Given the description of an element on the screen output the (x, y) to click on. 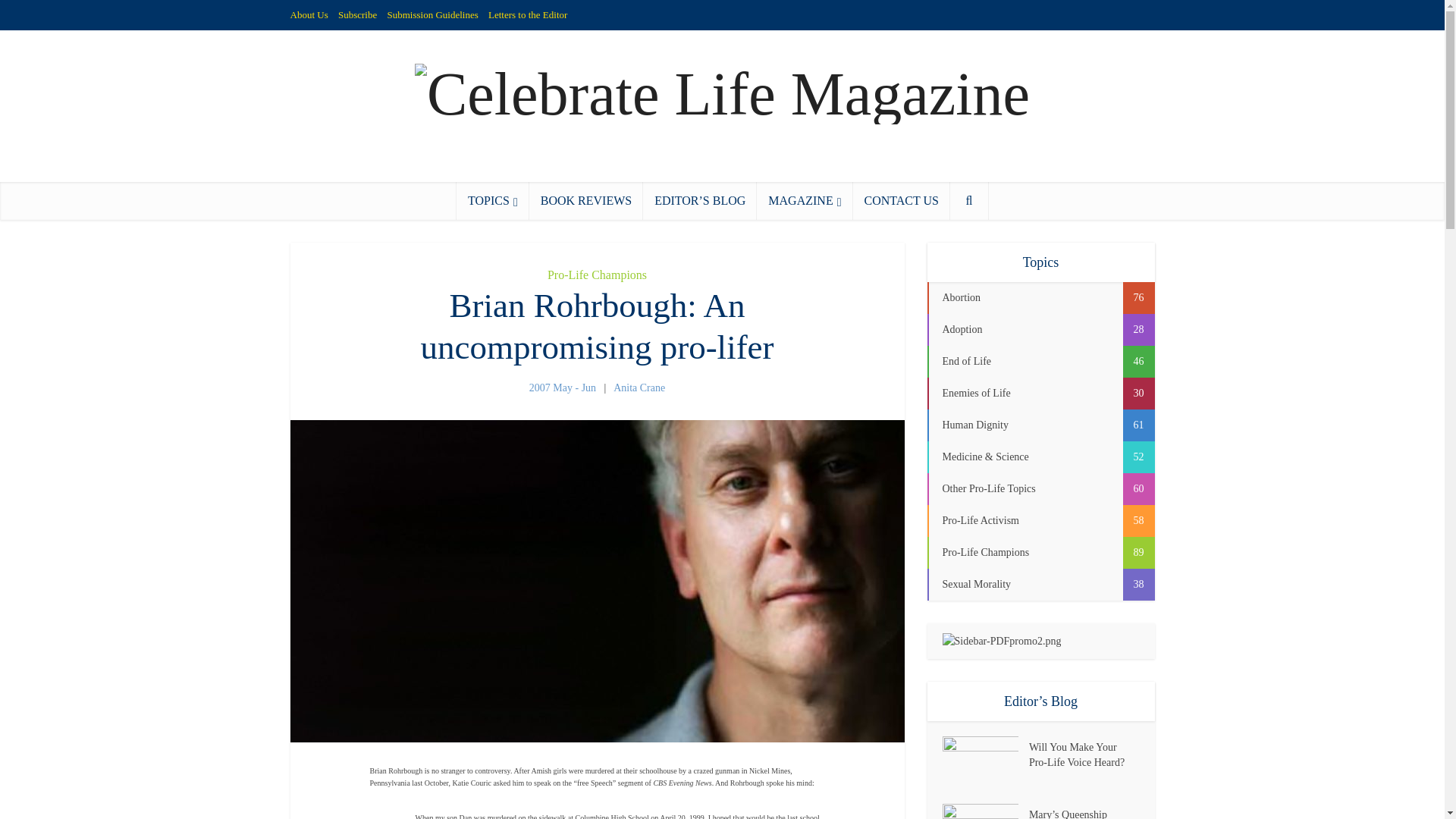
TOPICS (493, 200)
CONTACT US (900, 200)
Will You Make Your Pro-Life Voice Heard? (1084, 753)
Subscribe (357, 14)
Letters to the Editor (527, 14)
About Us (308, 14)
Submission Guidelines (432, 14)
Will You Make Your Pro-Life Voice Heard? (984, 762)
MAGAZINE (804, 200)
BOOK REVIEWS (586, 200)
